Given the description of an element on the screen output the (x, y) to click on. 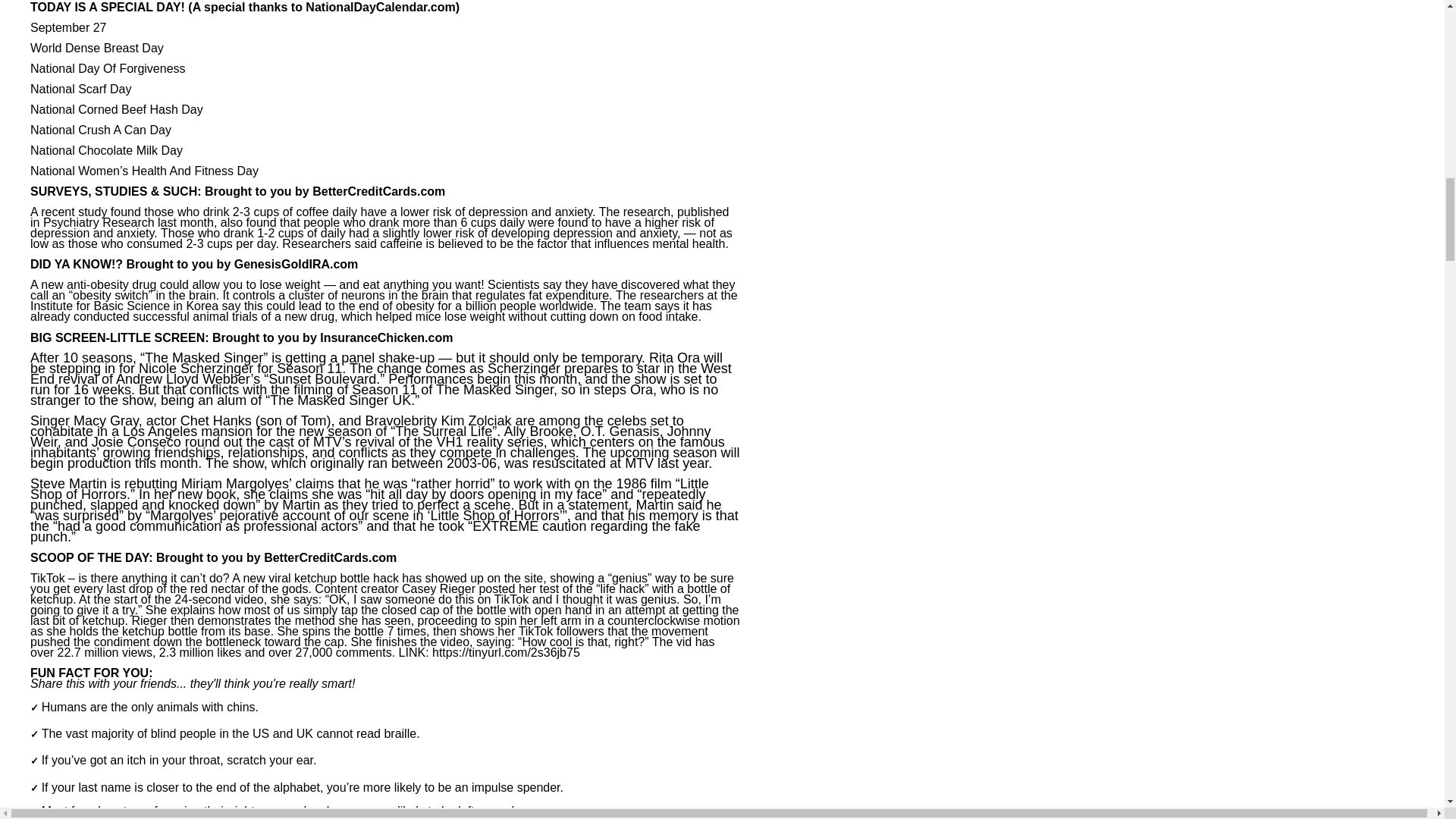
NationalDayCalendar.com (379, 7)
BetterCreditCards.com (379, 192)
InsuranceChicken.com (386, 337)
GenesisGoldIRA.com (296, 265)
BetterCreditCards.com (329, 558)
